Given the description of an element on the screen output the (x, y) to click on. 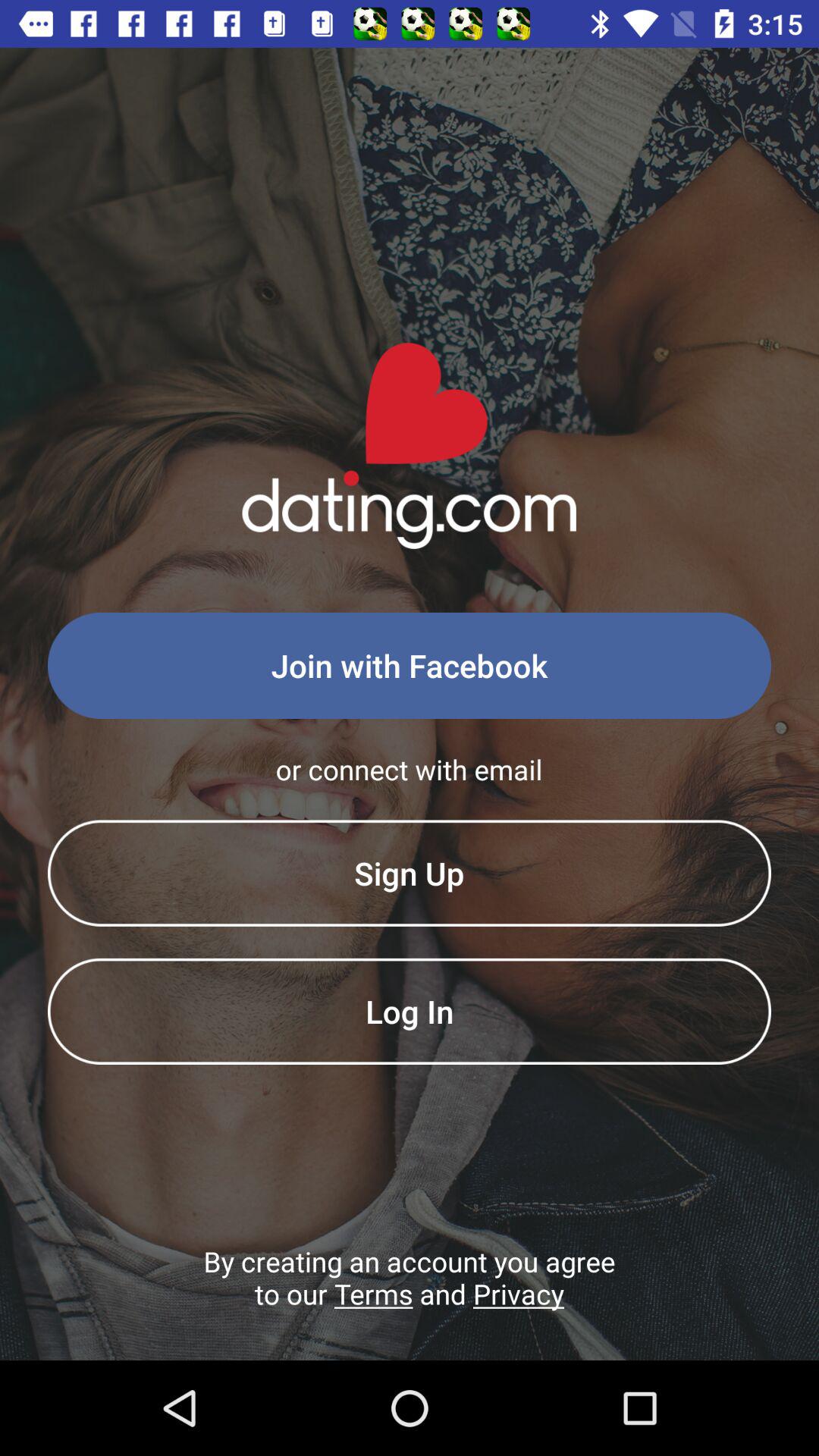
launch by creating an item (409, 1301)
